Given the description of an element on the screen output the (x, y) to click on. 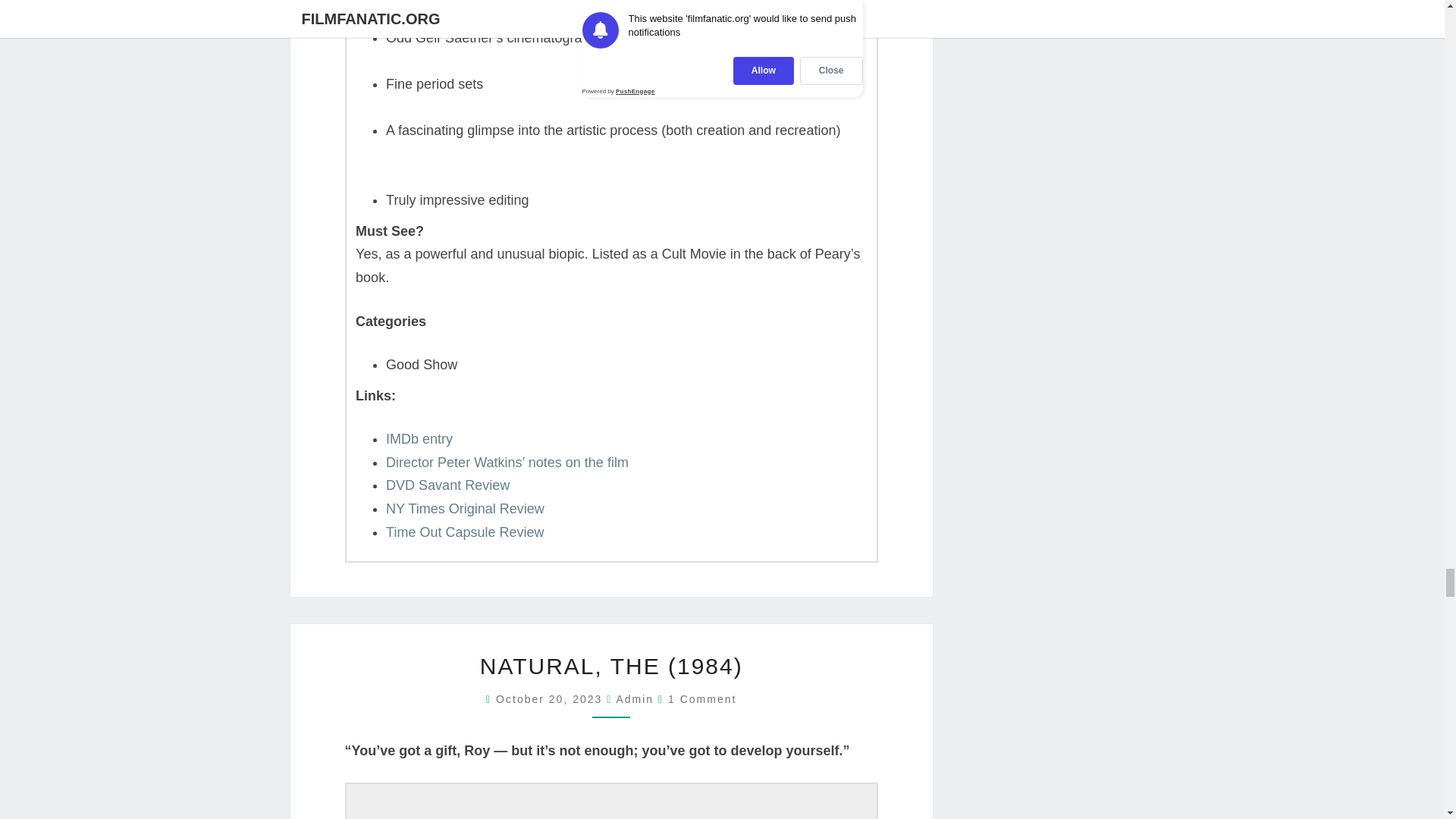
View all posts by admin (634, 698)
1:43 pm (551, 698)
